Given the description of an element on the screen output the (x, y) to click on. 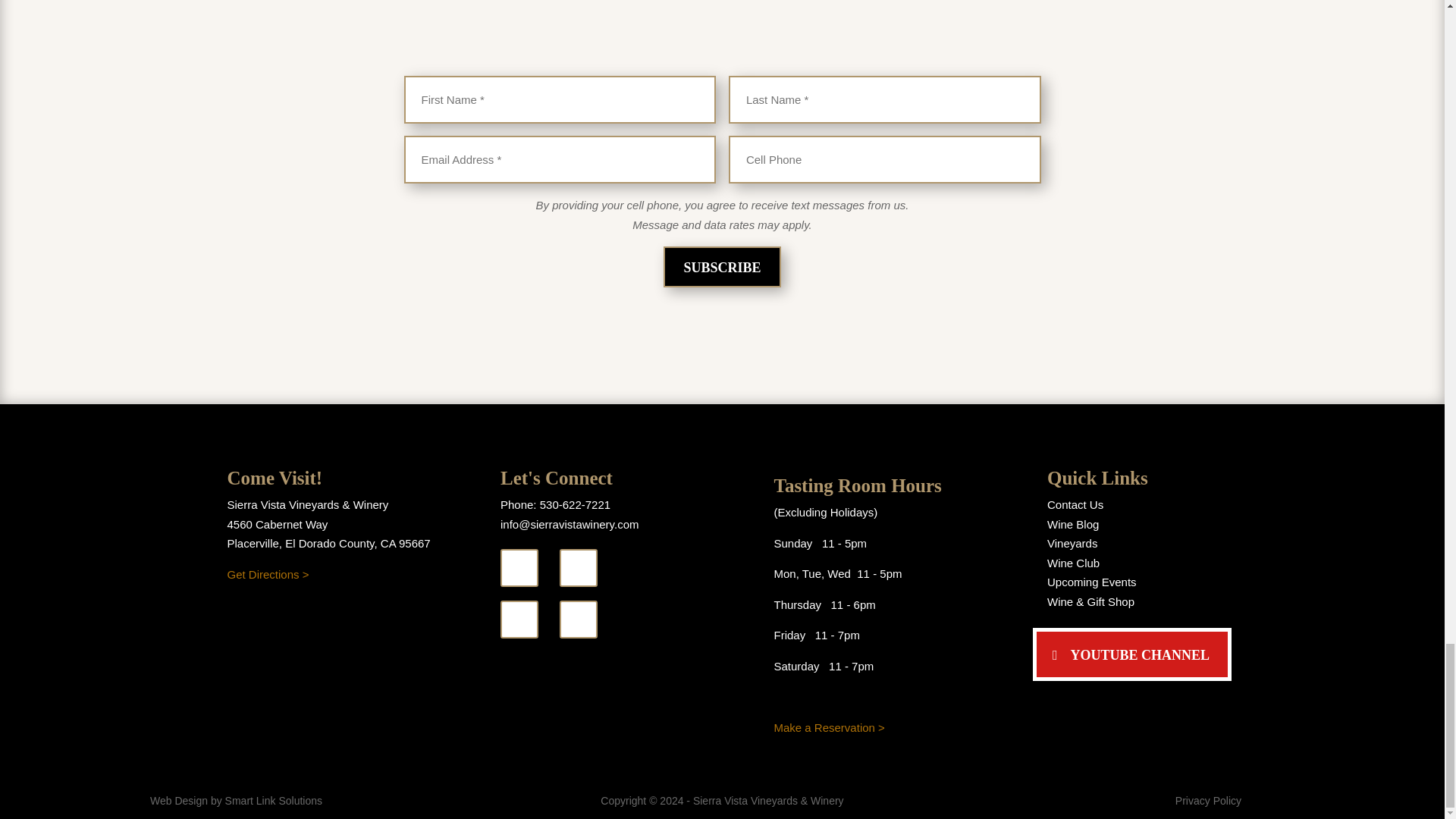
Follow on  (577, 567)
SUBSCRIBE (721, 266)
Follow on  (577, 619)
Follow on  (519, 567)
Follow on  (519, 619)
